Given the description of an element on the screen output the (x, y) to click on. 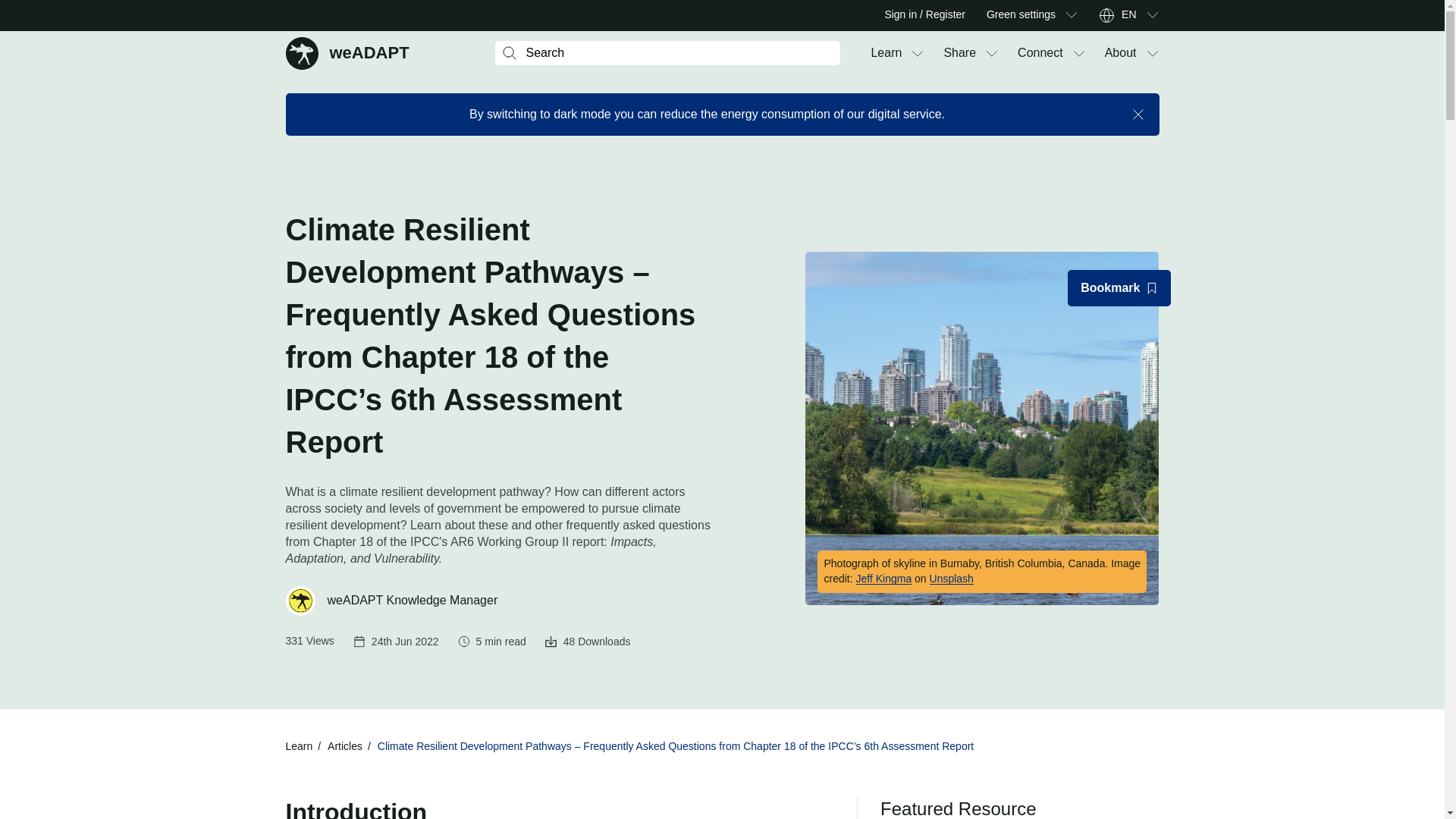
Learn (885, 53)
About (1121, 53)
Translate Submenu (1151, 14)
EN (347, 52)
Share (1128, 14)
Connect (959, 53)
Submenu (1039, 53)
Green settings (1071, 14)
